Given the description of an element on the screen output the (x, y) to click on. 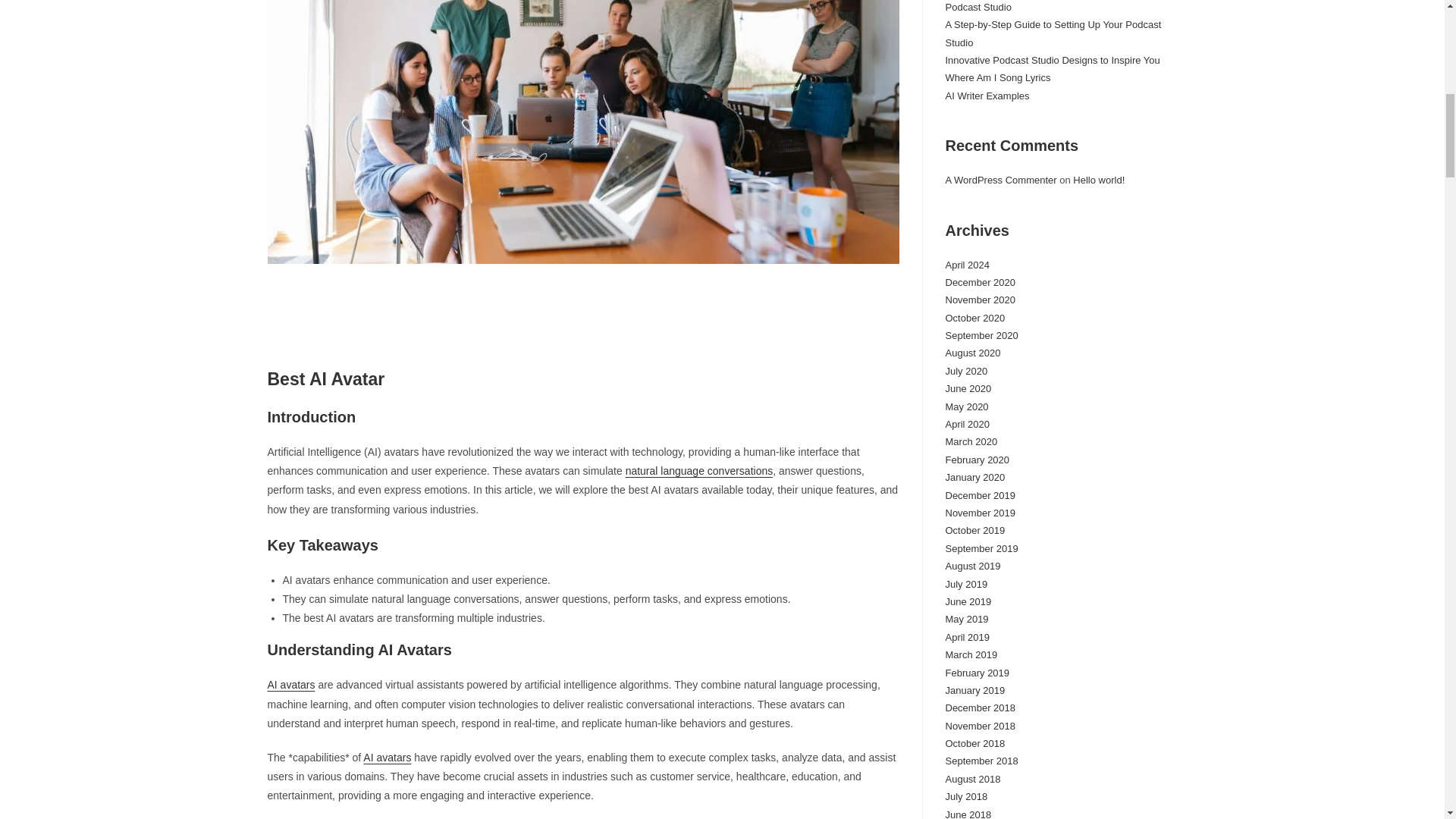
AI avatars (290, 684)
AI avatars (386, 757)
natural language conversations (699, 470)
